Given the description of an element on the screen output the (x, y) to click on. 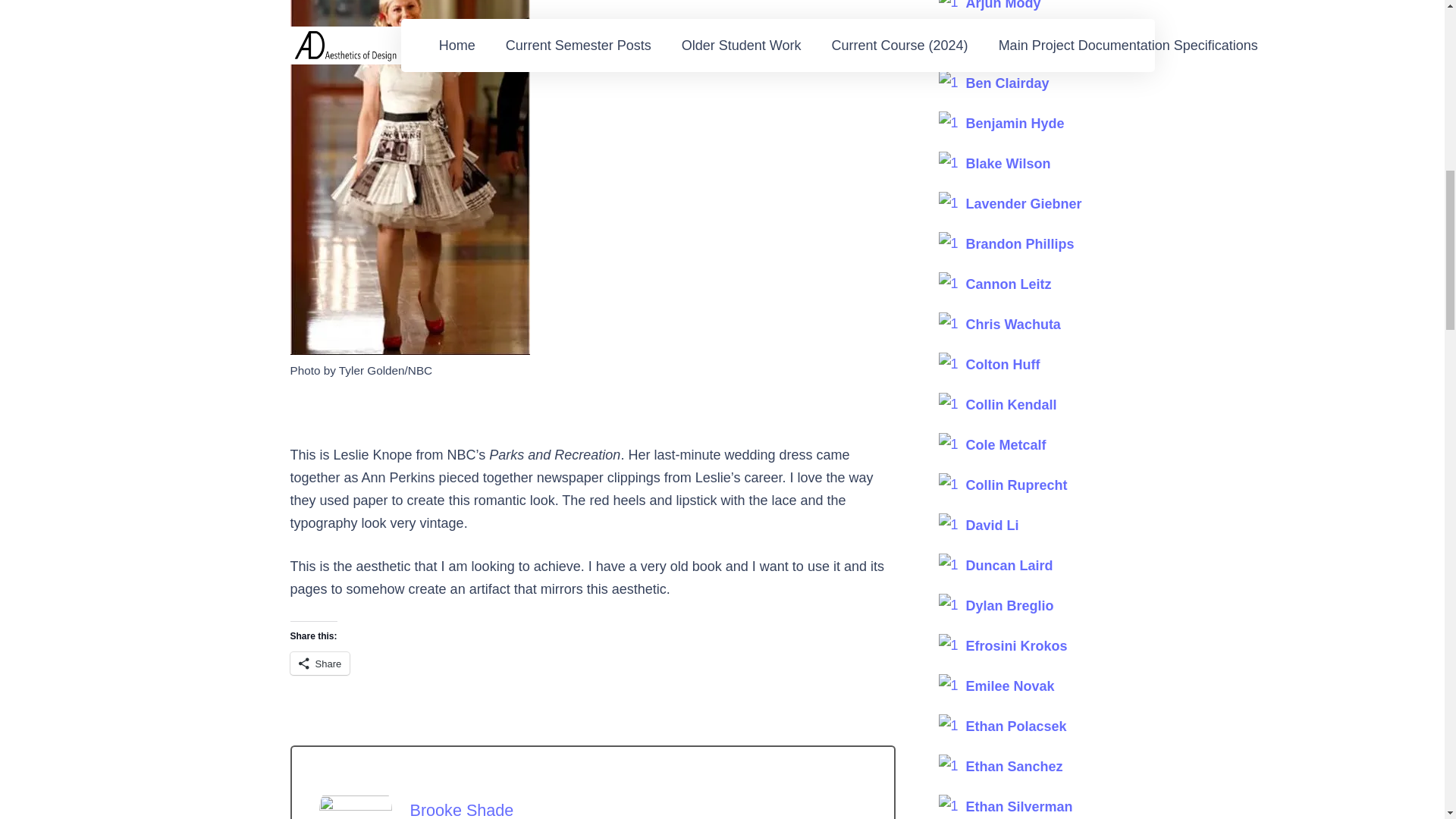
Back to top (1413, 26)
